Given the description of an element on the screen output the (x, y) to click on. 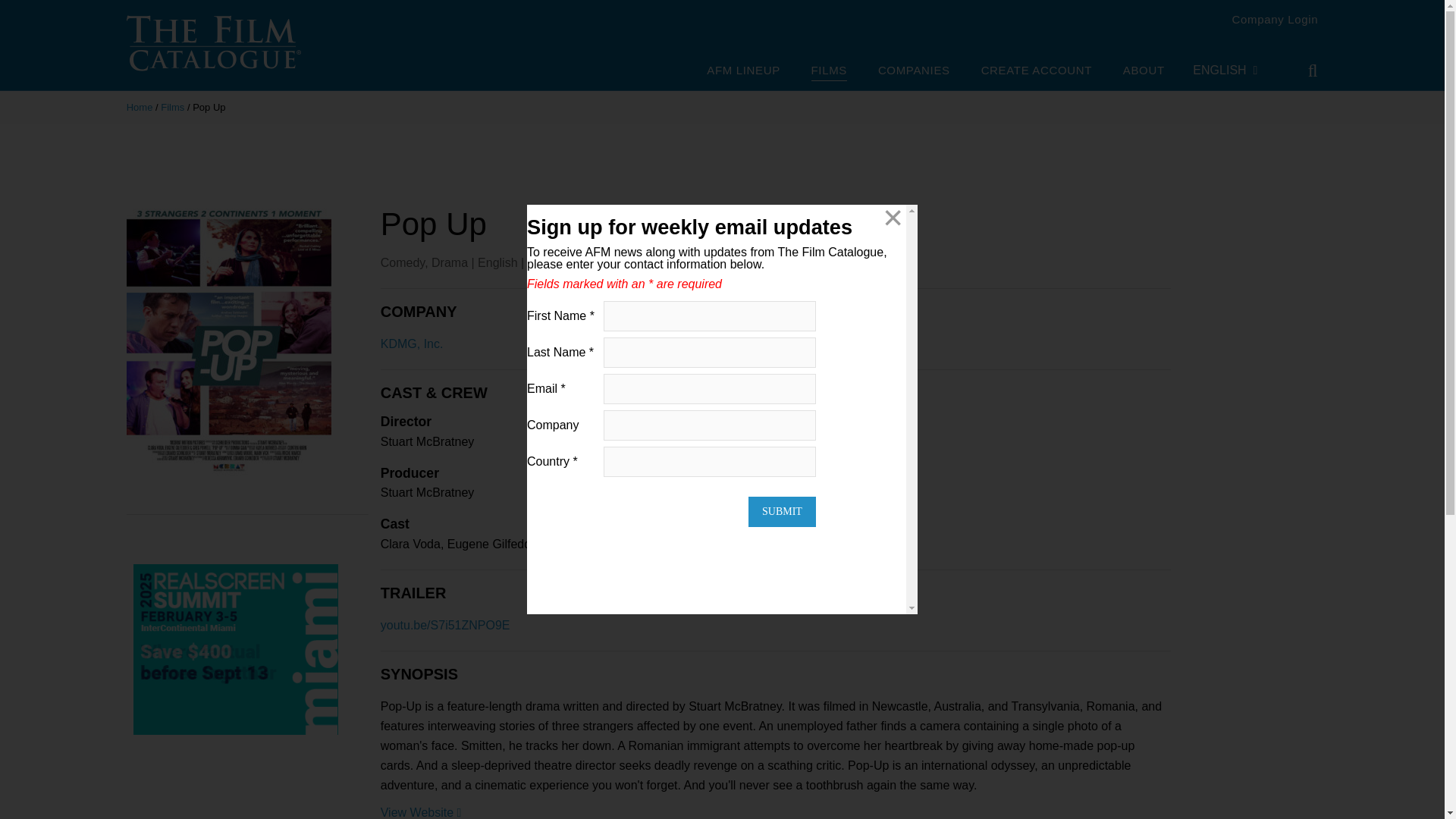
FILMS (828, 72)
CREATE ACCOUNT (1036, 71)
Home (139, 107)
GO (1302, 70)
AFM LINEUP (742, 71)
KDMG, Inc. (412, 343)
ABOUT (1143, 71)
COMPANIES (913, 71)
View Website (420, 812)
GO (1302, 70)
